Given the description of an element on the screen output the (x, y) to click on. 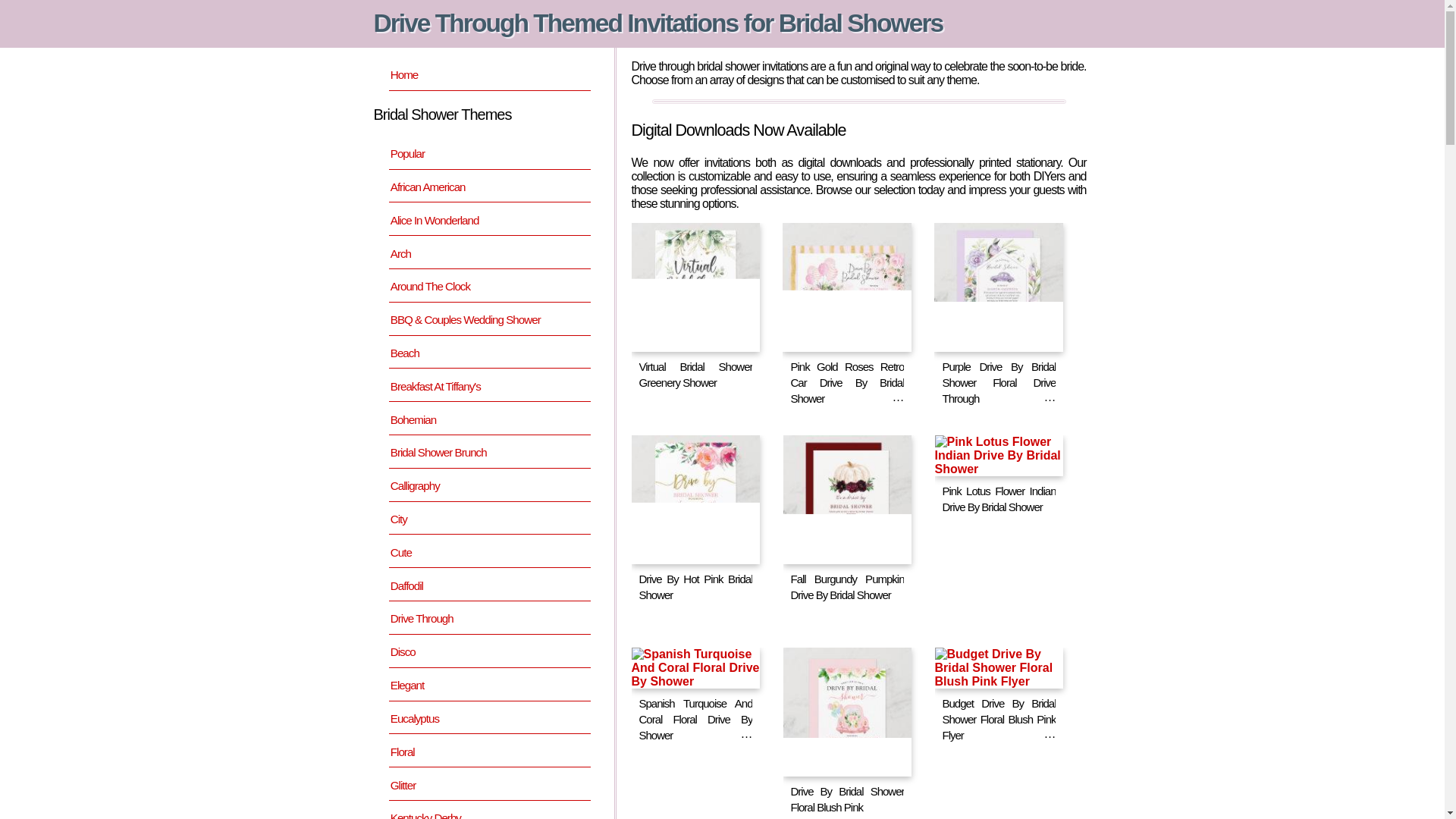
Drive Through Themed Invitations for Bridal Showers (657, 22)
Popular (488, 153)
Arch (488, 253)
African American (488, 187)
Home (488, 74)
Alice In Wonderland (488, 219)
